Given the description of an element on the screen output the (x, y) to click on. 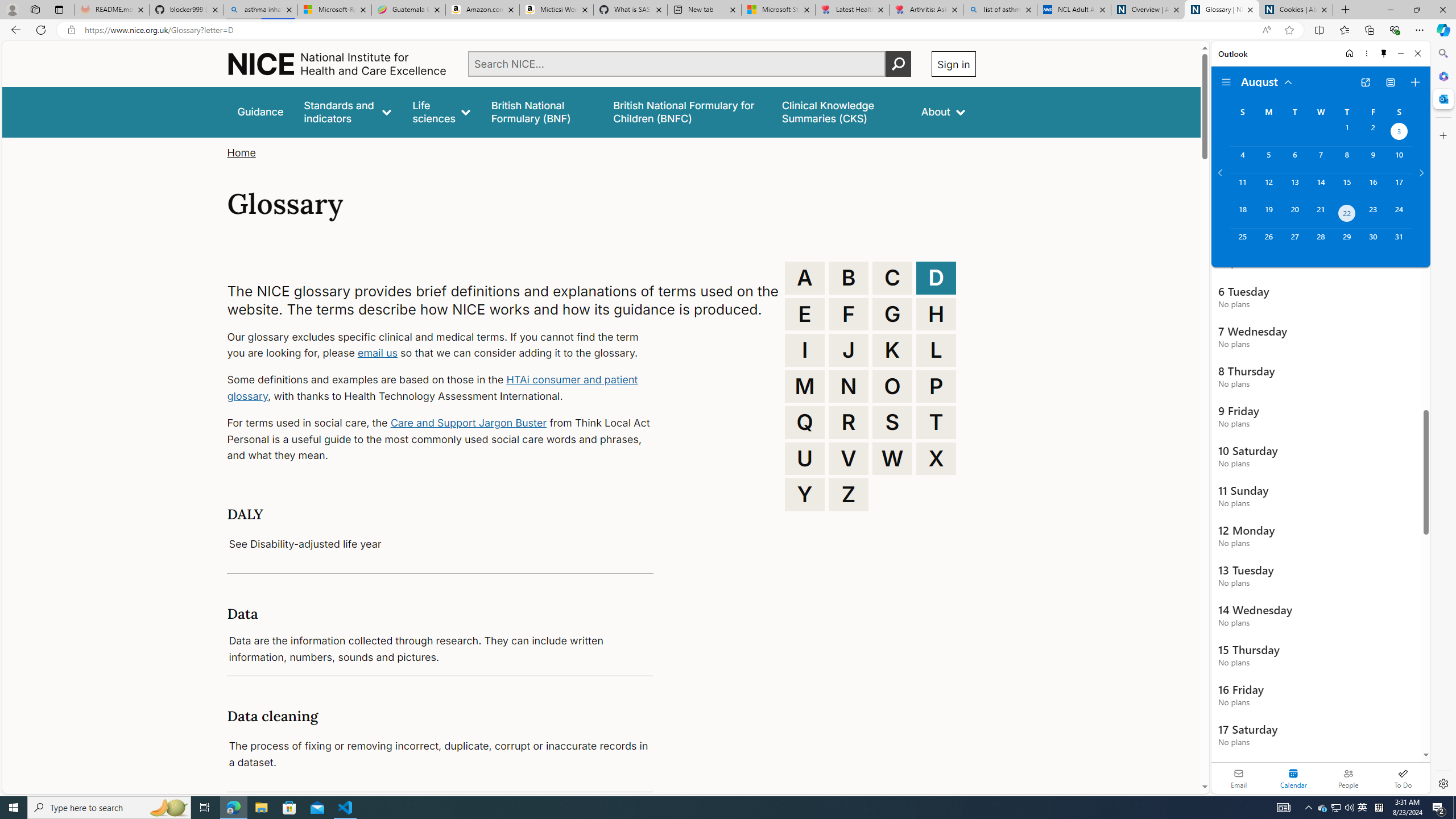
T (935, 422)
F (848, 313)
About (942, 111)
Arthritis: Ask Health Professionals (925, 9)
HTAi consumer and patient glossary (432, 387)
Sunday, August 18, 2024.  (1242, 214)
Copilot (Ctrl+Shift+.) (1442, 29)
J (848, 350)
Add this page to favorites (Ctrl+D) (1289, 29)
Collections (1369, 29)
J (848, 350)
X (935, 458)
Unpin side pane (1383, 53)
